Given the description of an element on the screen output the (x, y) to click on. 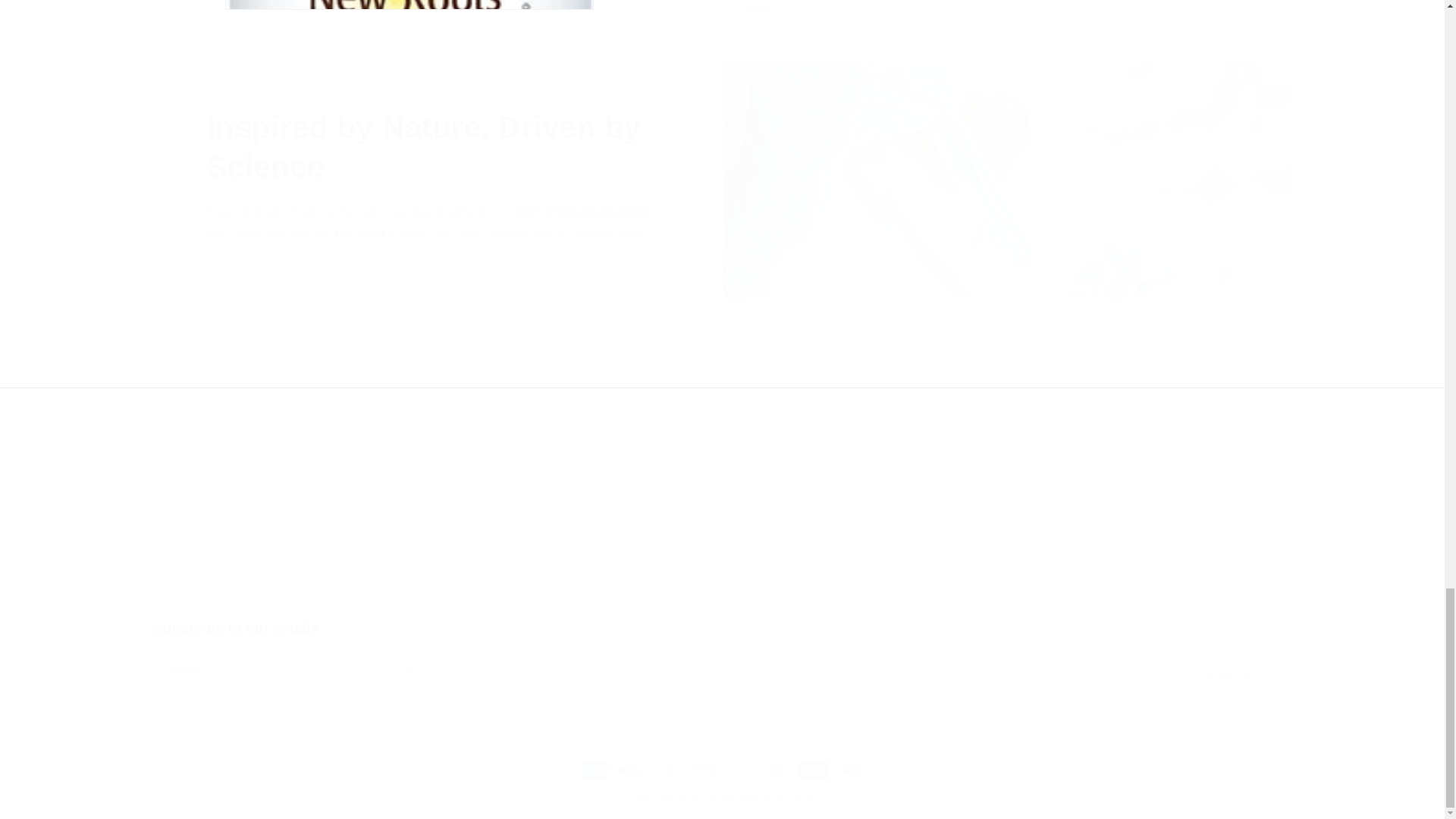
Free shipping on all orders within the USA (721, 653)
30 day guarantee. Hassle-free returns (435, 361)
